Given the description of an element on the screen output the (x, y) to click on. 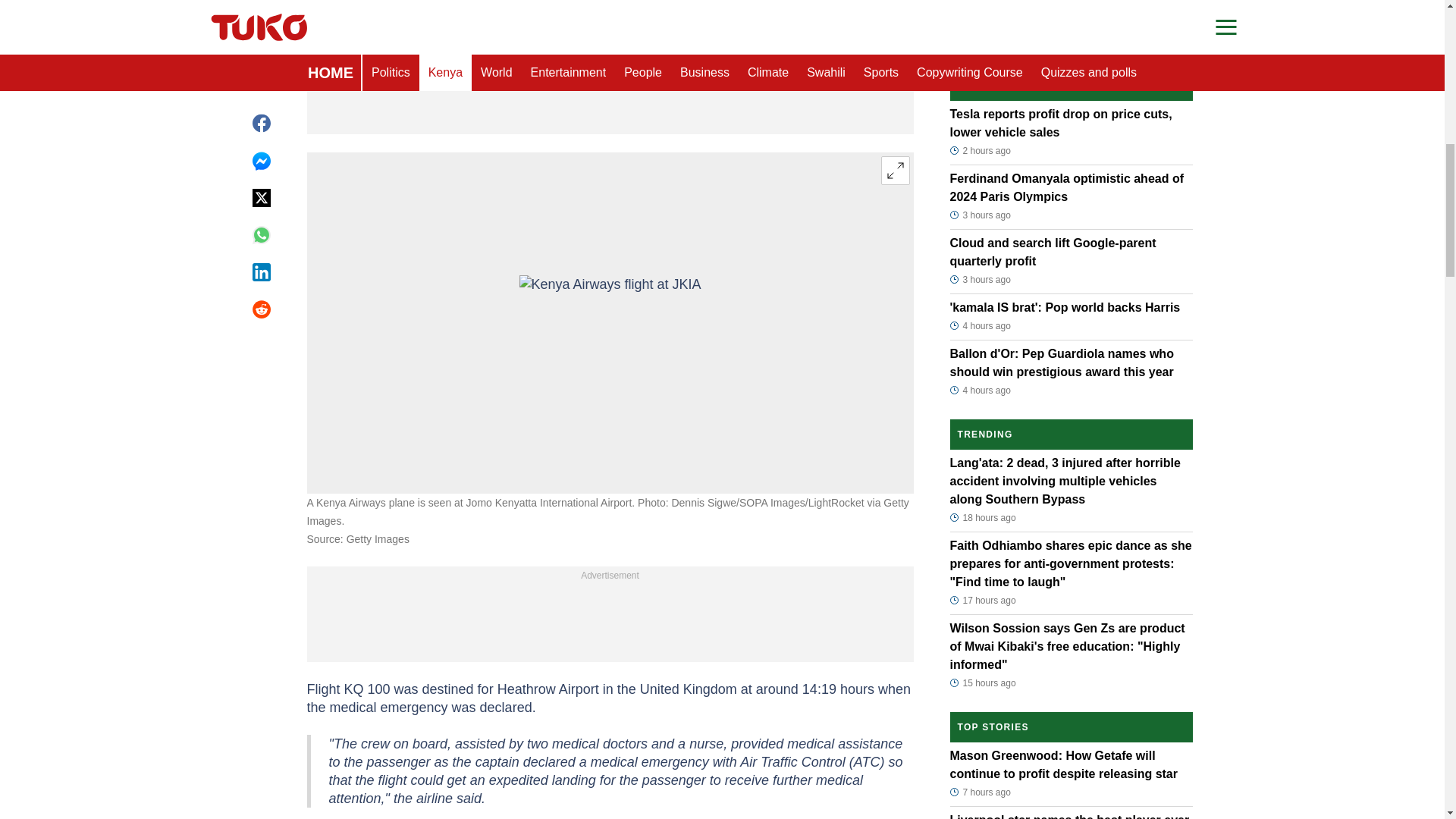
Expand image (895, 170)
Kenya Airways flight at JKIA (609, 323)
